Given the description of an element on the screen output the (x, y) to click on. 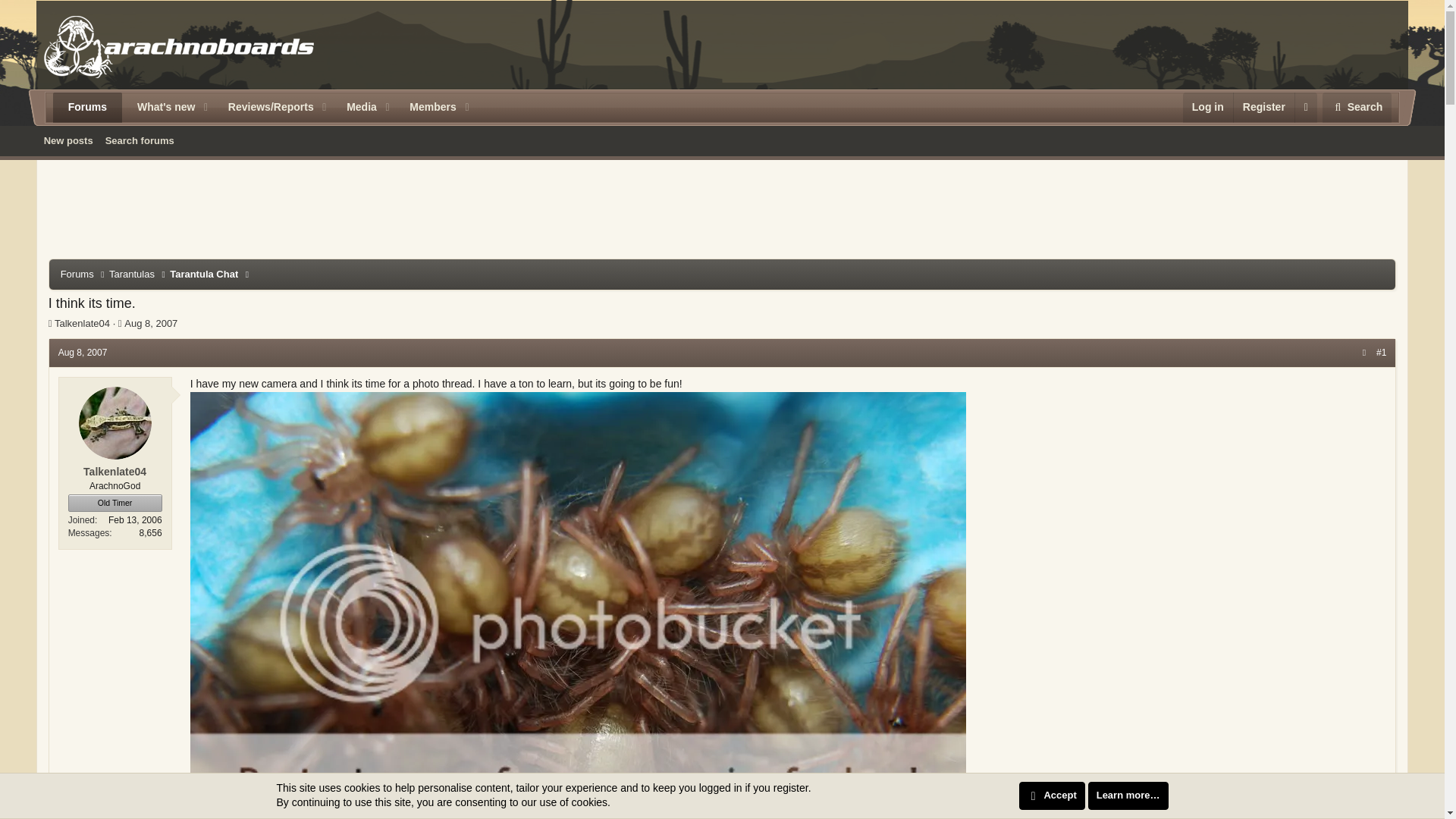
Start date (119, 323)
Log in (1207, 107)
New posts (68, 140)
Thread starter (50, 323)
Members (427, 107)
Search forums (722, 157)
Media (139, 140)
Search (355, 107)
Register (1356, 107)
Aug 8, 2007 at 11:07 PM (1263, 107)
What's new (82, 352)
Search (160, 107)
Aug 8, 2007 at 11:07 PM (1356, 107)
Forums (150, 323)
